Given the description of an element on the screen output the (x, y) to click on. 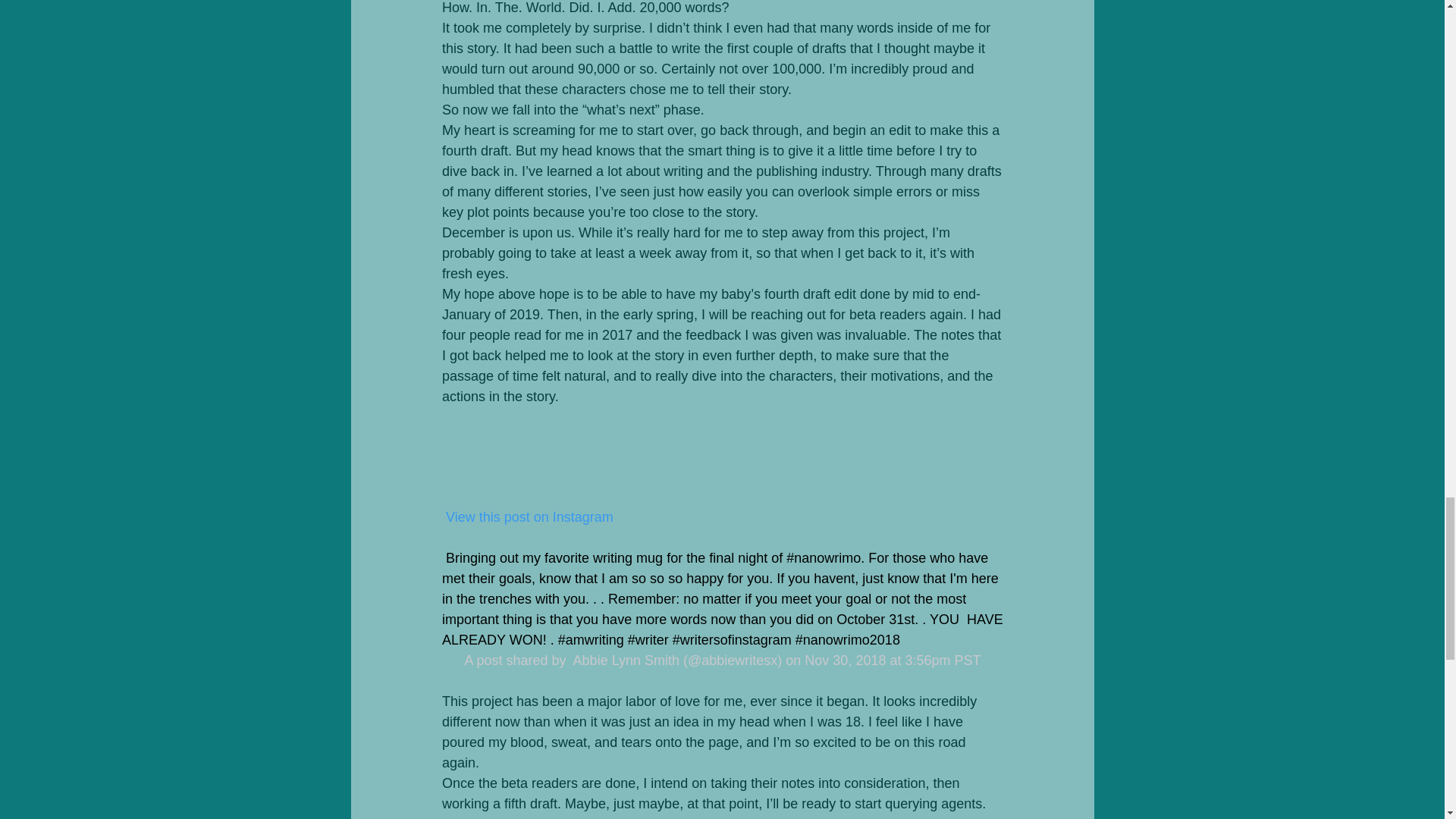
 View this post on Instagram (526, 516)
 Abbie Lynn Smith (623, 660)
